Given the description of an element on the screen output the (x, y) to click on. 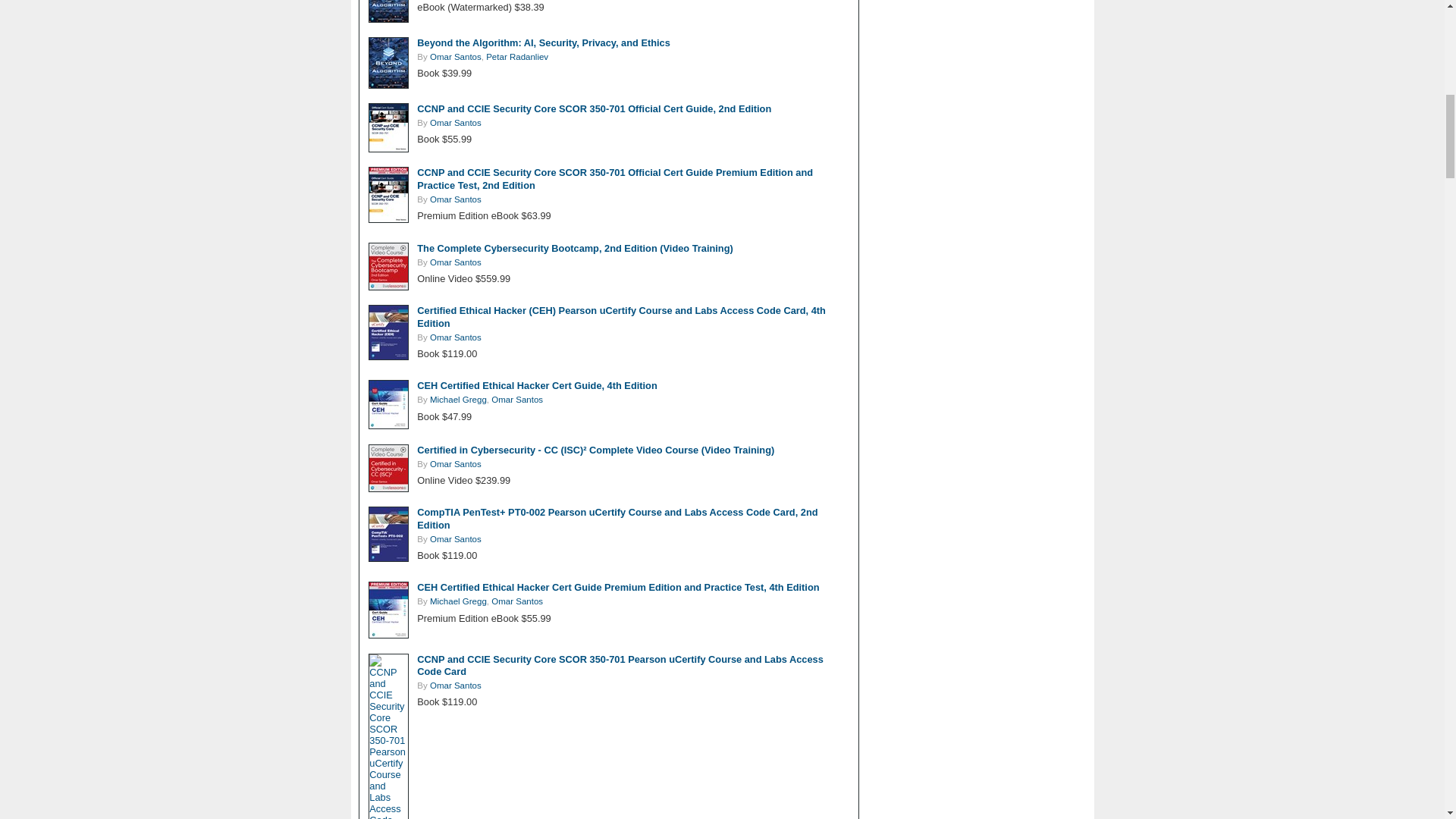
Omar Santos (455, 198)
Omar Santos (455, 56)
Omar Santos (455, 122)
Beyond the Algorithm: AI, Security, Privacy, and Ethics (542, 42)
Petar Radanliev (517, 56)
